Given the description of an element on the screen output the (x, y) to click on. 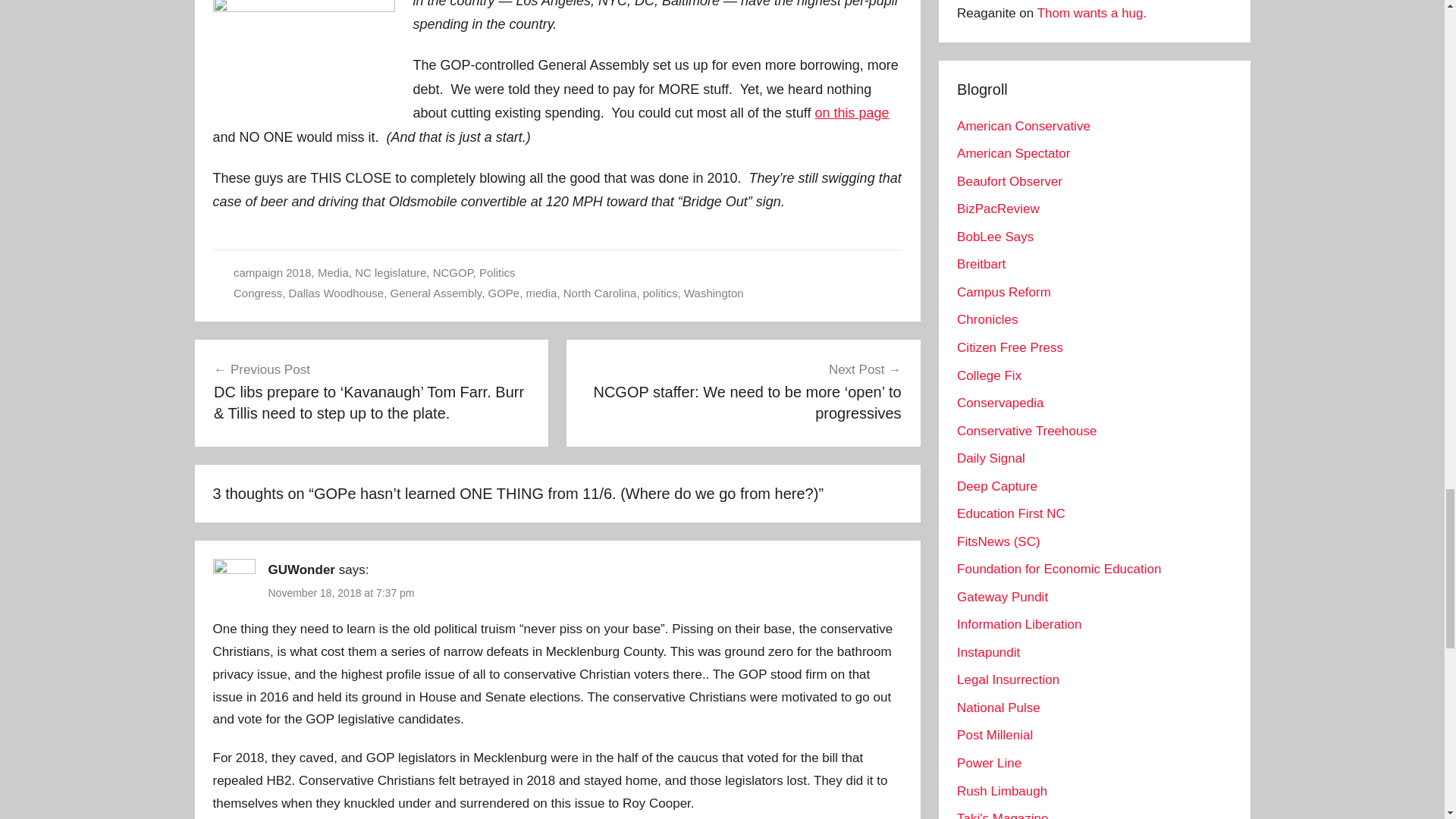
on this page (852, 112)
NCGOP (452, 272)
politics (660, 292)
Media (333, 272)
General Assembly (435, 292)
media (541, 292)
Politics (497, 272)
NC legislature (390, 272)
Congress (257, 292)
North Carolina (600, 292)
GOPe (503, 292)
campaign 2018 (271, 272)
Washington (714, 292)
November 18, 2018 at 7:37 pm (340, 592)
Dallas Woodhouse (336, 292)
